Given the description of an element on the screen output the (x, y) to click on. 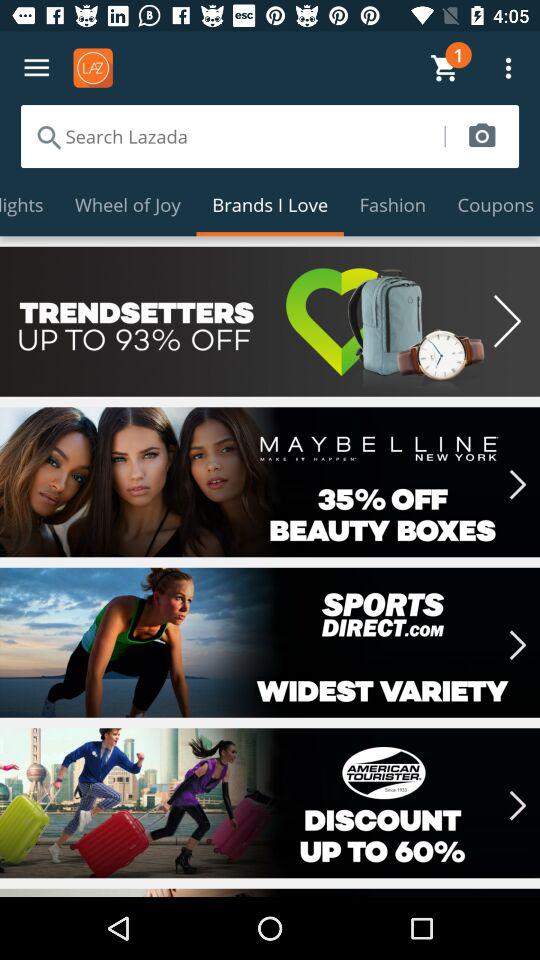
turn on the icon above coupons (482, 136)
